Given the description of an element on the screen output the (x, y) to click on. 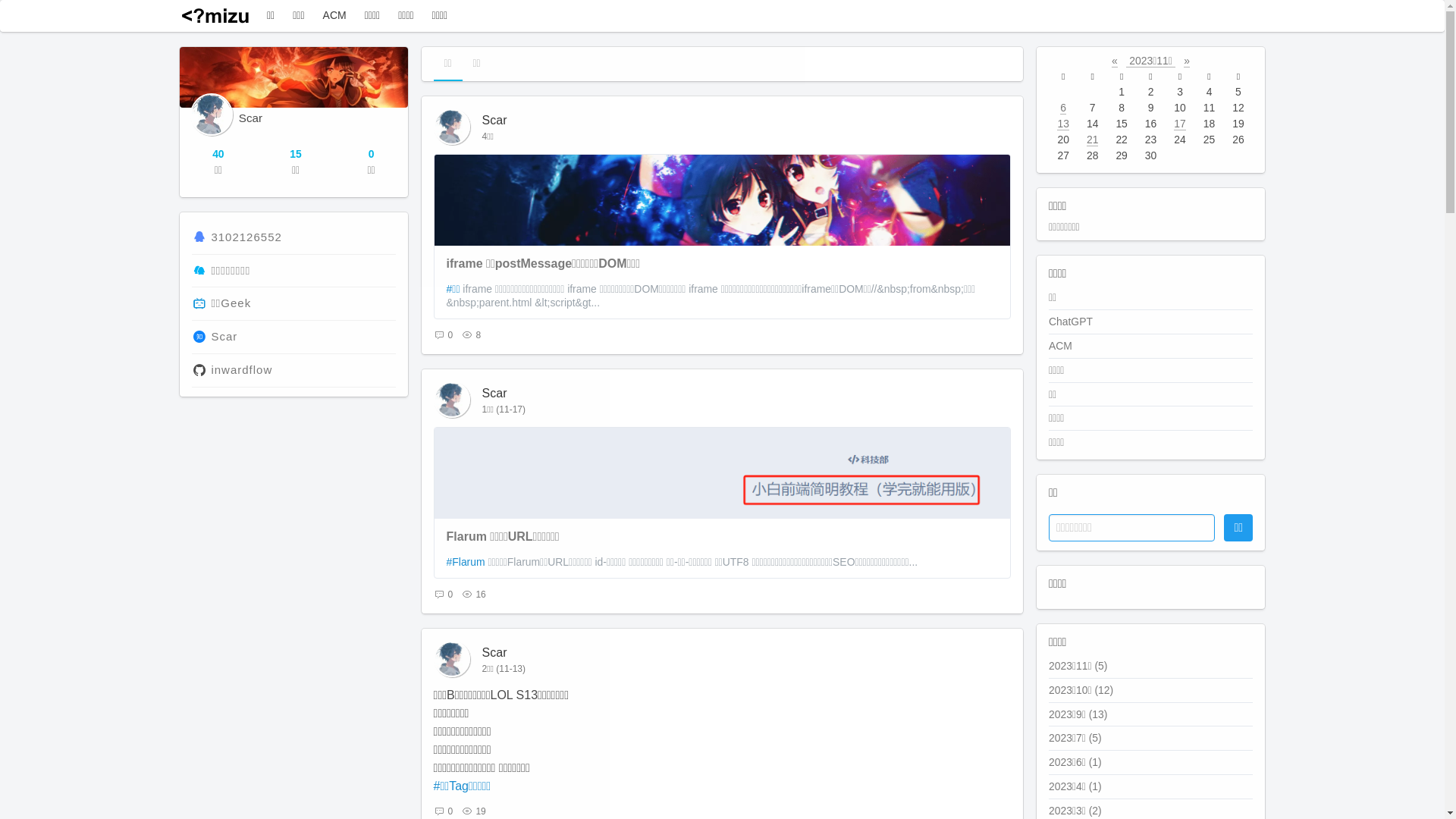
Scar's Blog Element type: text (215, 15)
0 Element type: text (447, 594)
17 Element type: text (1179, 123)
0 Element type: text (447, 811)
ACM Element type: text (334, 15)
Scar Element type: text (494, 392)
ACM Element type: text (1060, 345)
Scar Element type: text (494, 119)
inwardflow Element type: text (241, 370)
21 Element type: text (1092, 139)
Scar Element type: text (223, 336)
0 Element type: text (447, 334)
Scar Element type: text (494, 652)
13 Element type: text (1062, 123)
3102126552 Element type: text (245, 236)
#Flarum Element type: text (465, 561)
6 Element type: text (1063, 107)
ChatGPT Element type: text (1070, 321)
